Given the description of an element on the screen output the (x, y) to click on. 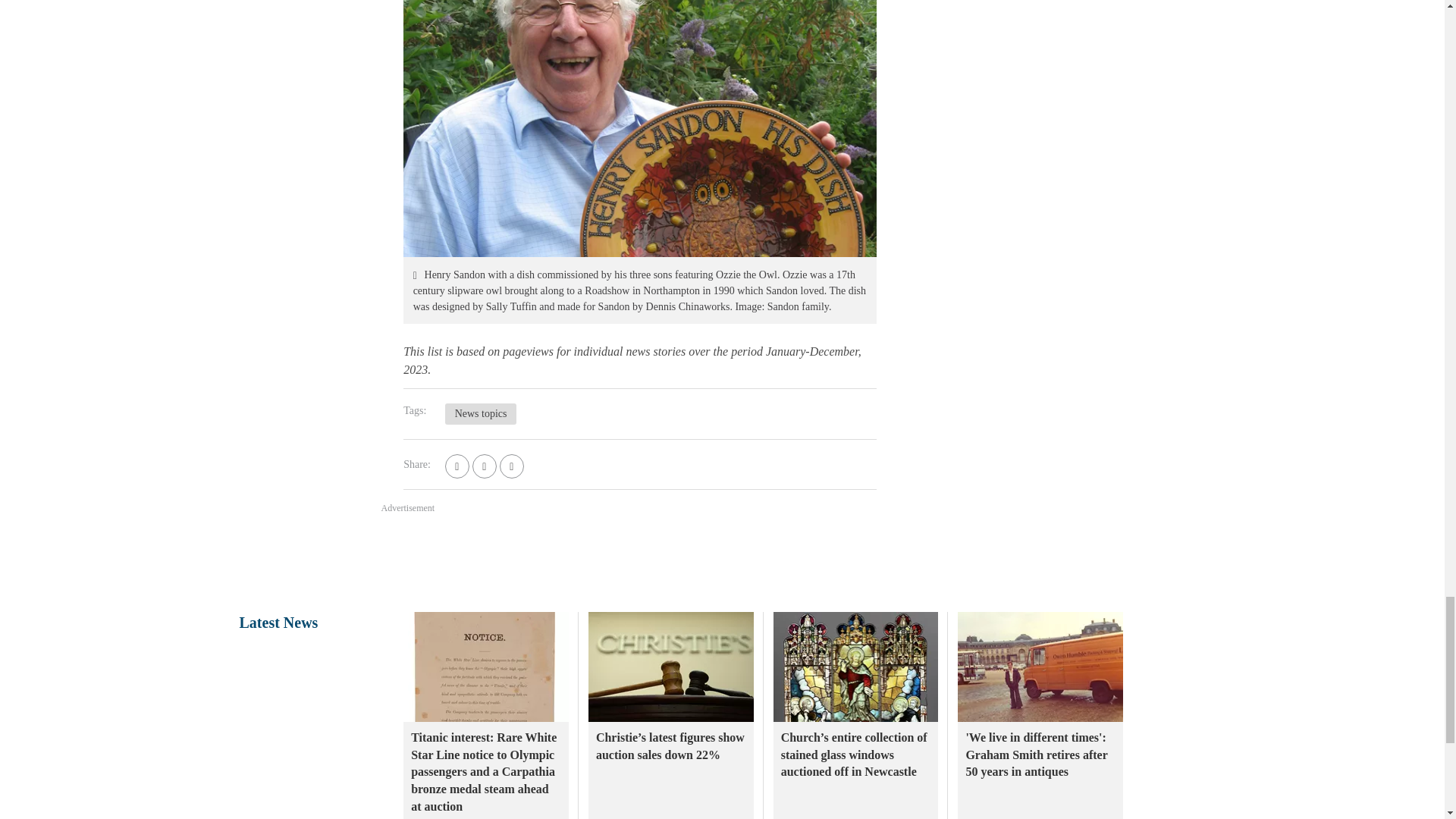
Henry Sandon (639, 128)
